Given the description of an element on the screen output the (x, y) to click on. 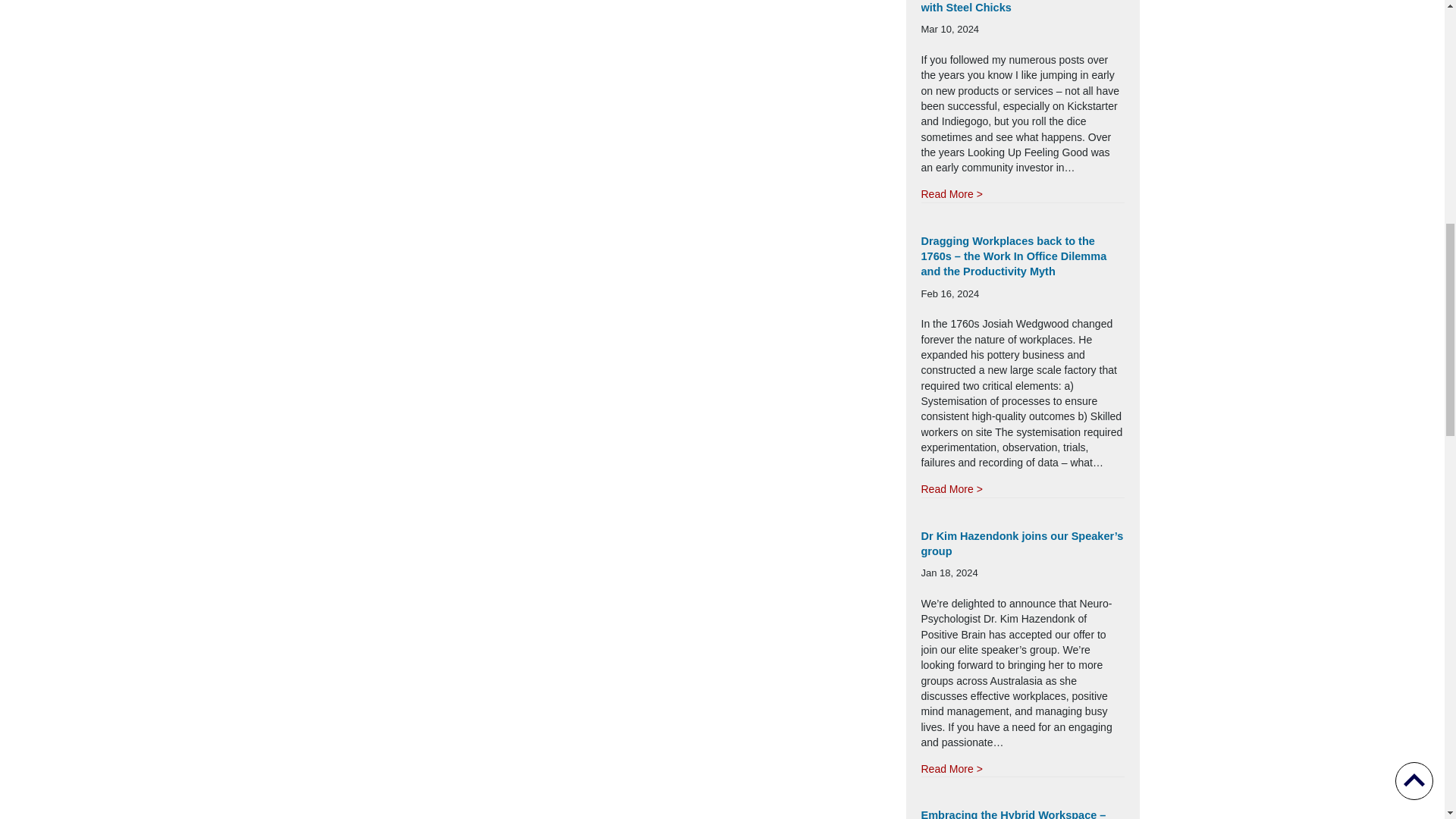
Looking Up Feeling Good Partners with Steel Chicks (950, 193)
Looking Up Feeling Good Partners with Steel Chicks (1011, 6)
Looking Up Feeling Good Partners with Steel Chicks (1011, 6)
